Given the description of an element on the screen output the (x, y) to click on. 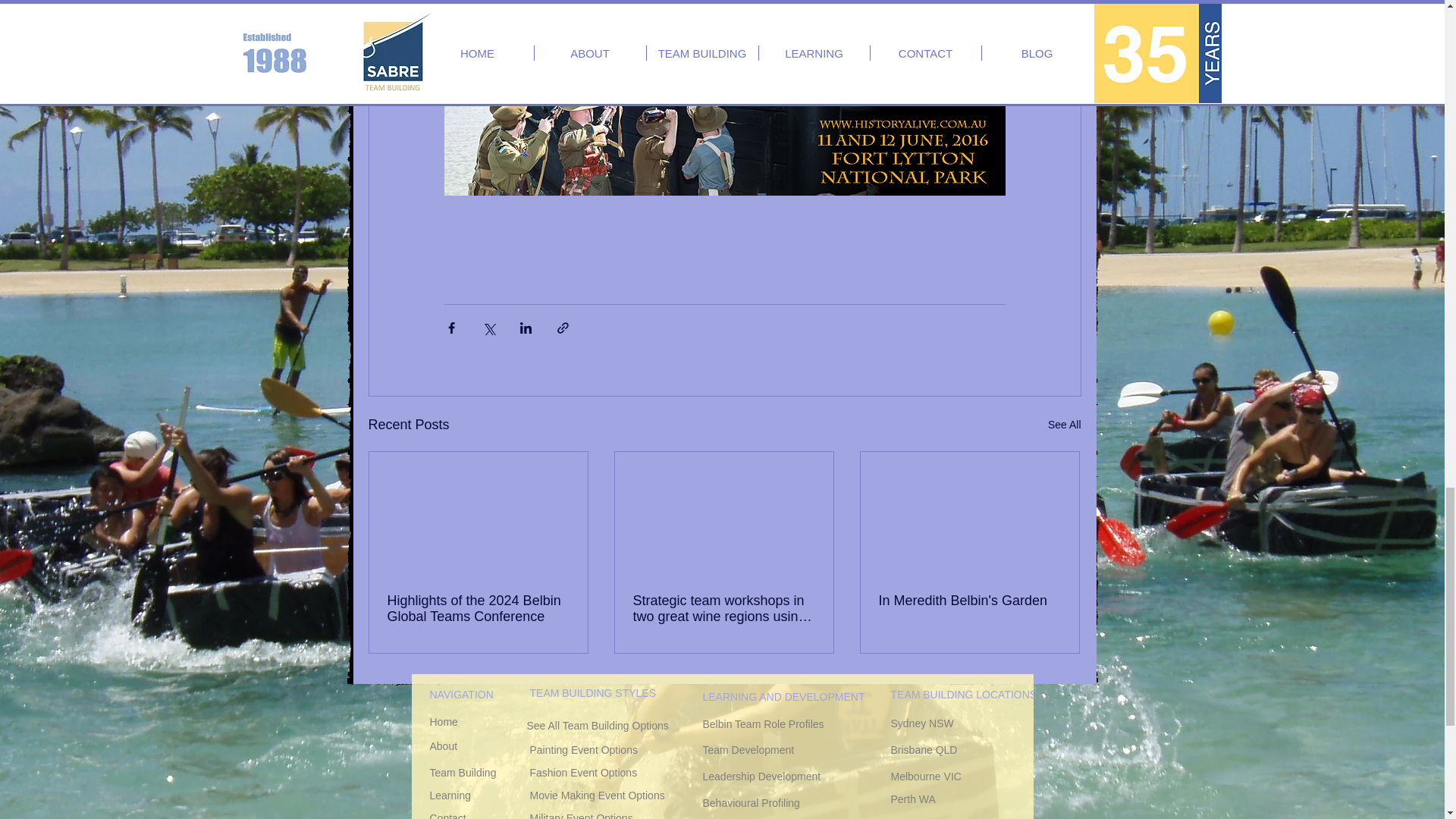
Highlights of the 2024 Belbin Global Teams Conference (478, 608)
See All (1064, 424)
